Given the description of an element on the screen output the (x, y) to click on. 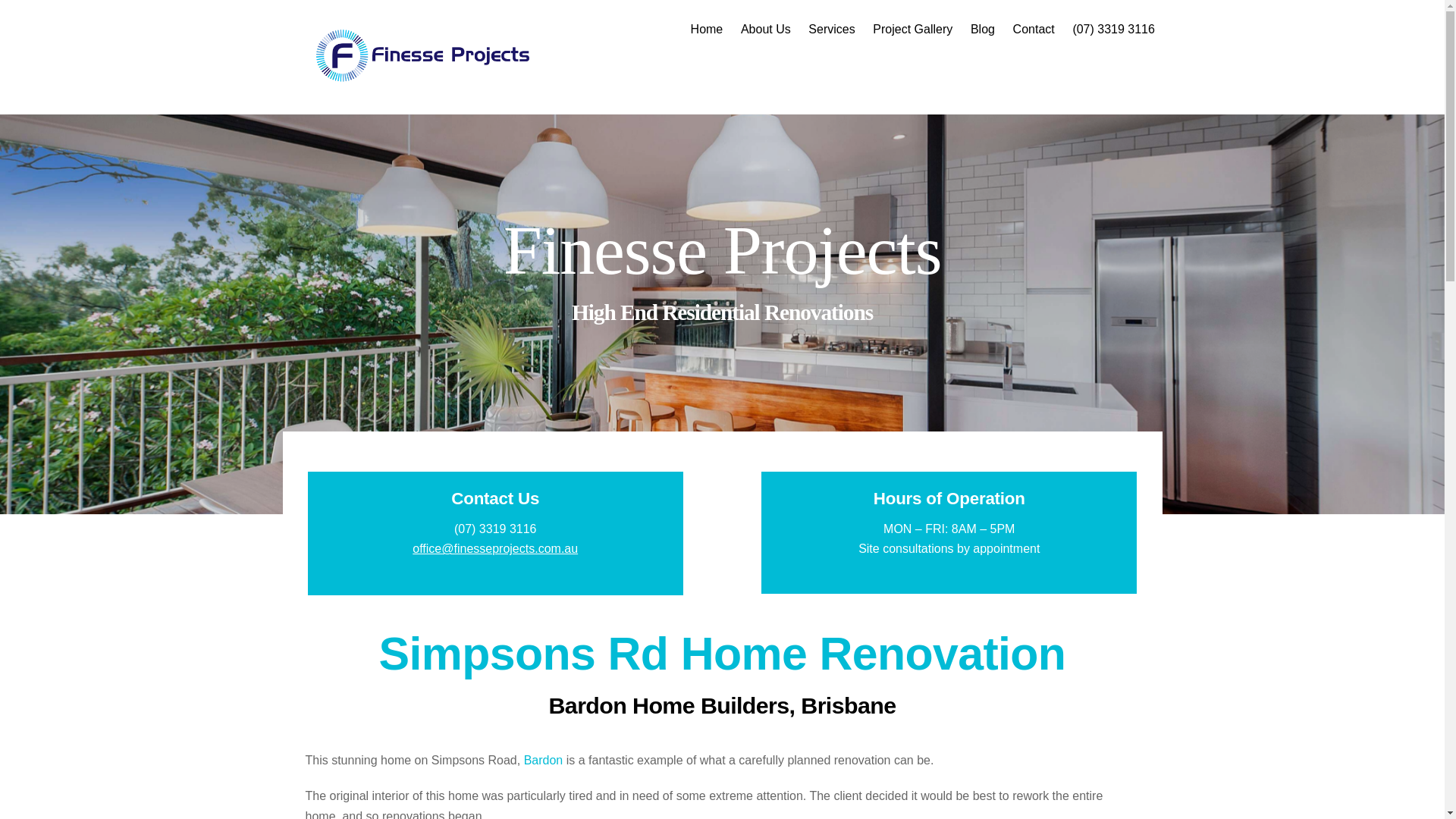
Finesse Projects (426, 77)
About Us (765, 29)
Contact (1033, 29)
Home (706, 29)
unnamed (426, 54)
Project Gallery (912, 29)
Blog (981, 29)
Bardon (543, 759)
Services (832, 29)
